Given the description of an element on the screen output the (x, y) to click on. 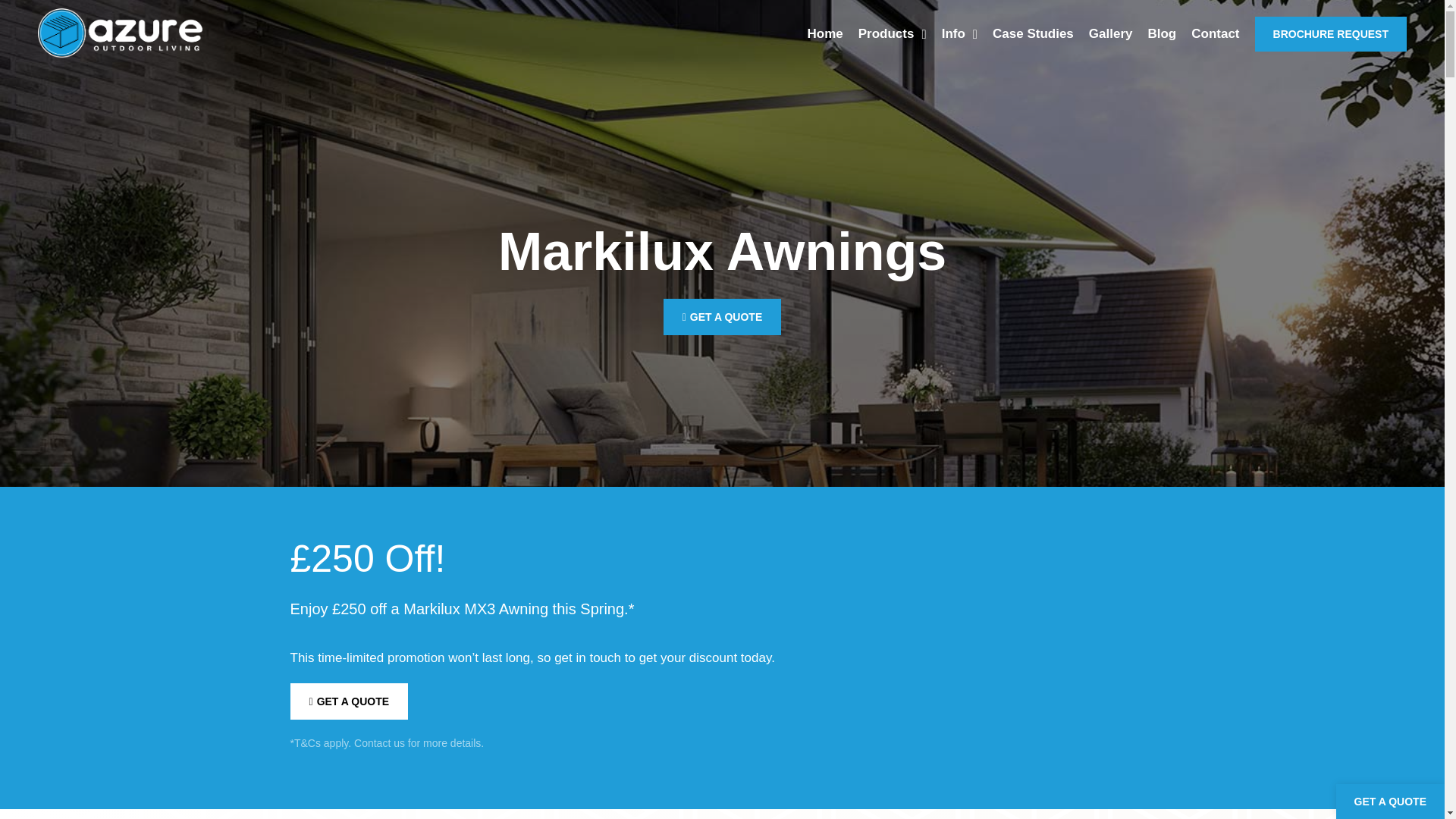
Products (892, 33)
